Given the description of an element on the screen output the (x, y) to click on. 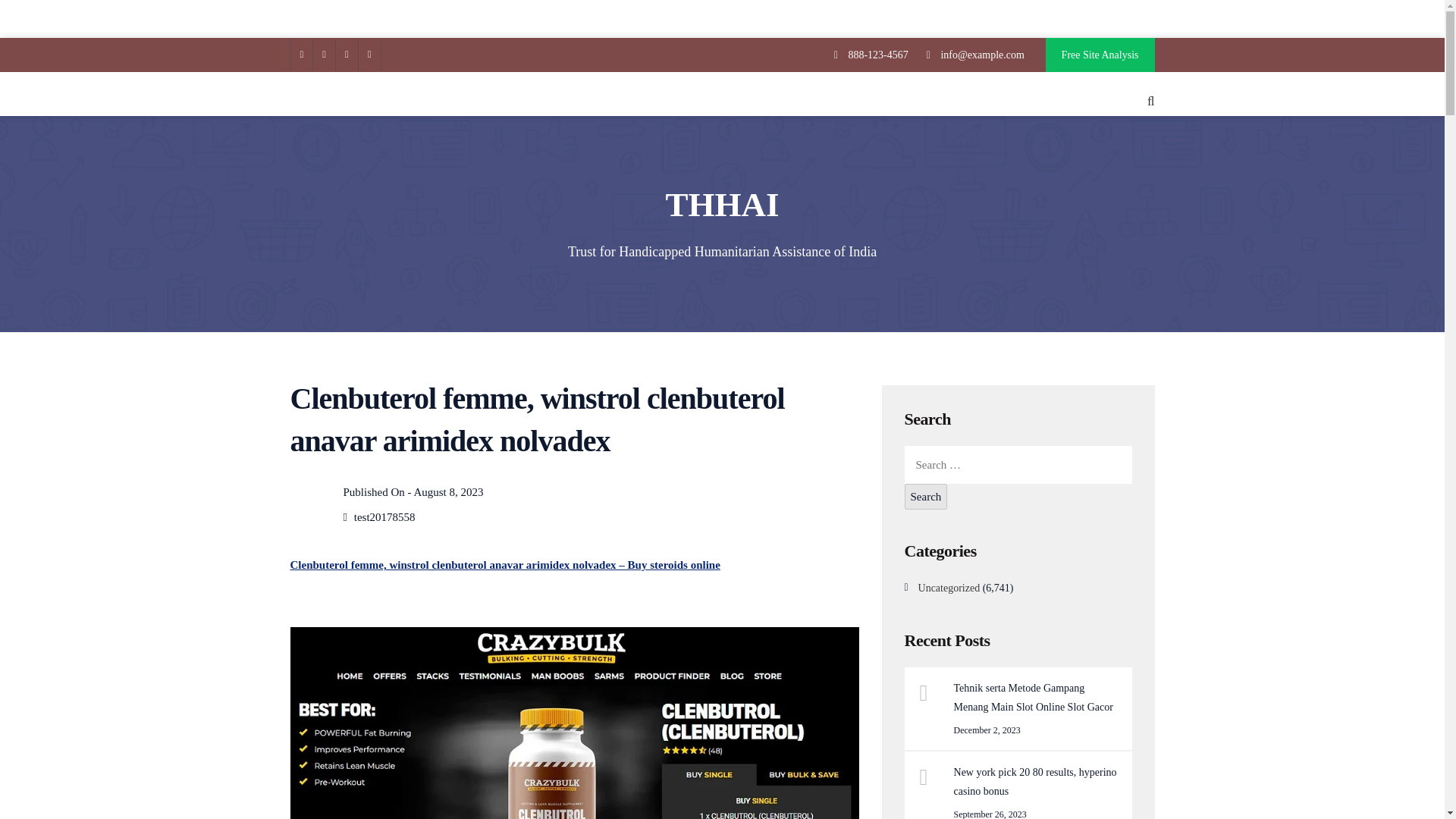
test20178558 (383, 517)
Free Site Analysis (1099, 54)
August 8, 2023 (448, 491)
New york pick 20 80 results, hyperino casino bonus (1037, 781)
Uncategorized (948, 587)
clenbuterol femme (574, 723)
Search (925, 496)
Search (925, 496)
Search (925, 496)
